Given the description of an element on the screen output the (x, y) to click on. 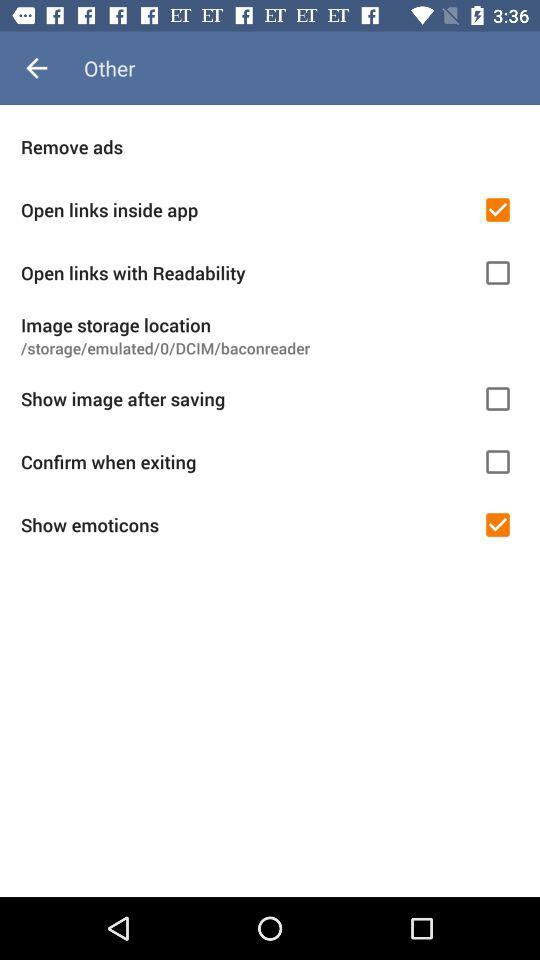
scroll to the image storage location (270, 324)
